Given the description of an element on the screen output the (x, y) to click on. 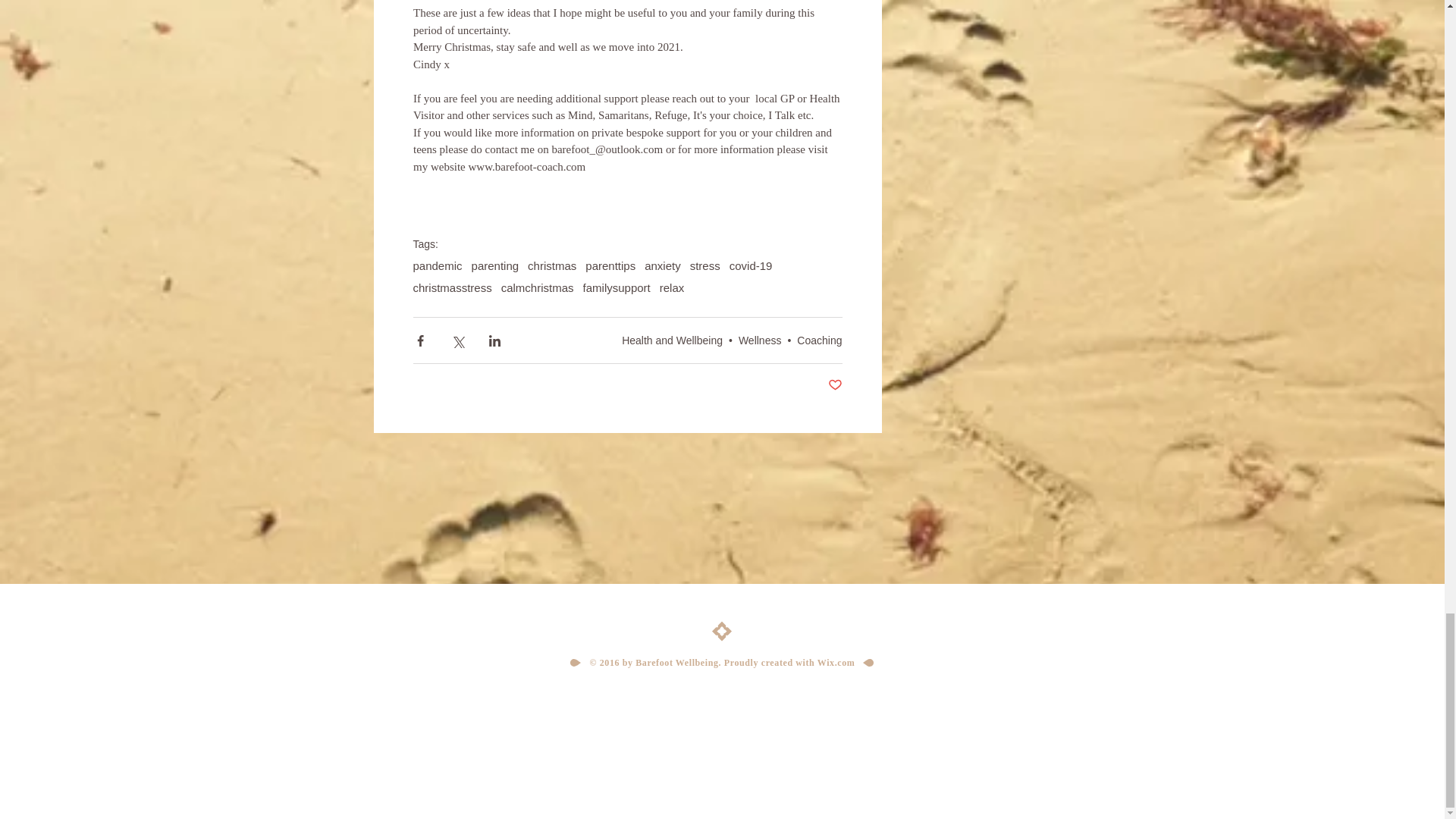
Post not marked as liked (835, 385)
calmchristmas (536, 287)
Health and Wellbeing (671, 340)
familysupport (616, 287)
christmas (551, 265)
relax (671, 287)
Wellness (759, 340)
parenting (495, 265)
christmasstress (452, 287)
parenttips (609, 265)
pandemic (436, 265)
Coaching (818, 340)
covid-19 (751, 265)
stress (705, 265)
anxiety (663, 265)
